Given the description of an element on the screen output the (x, y) to click on. 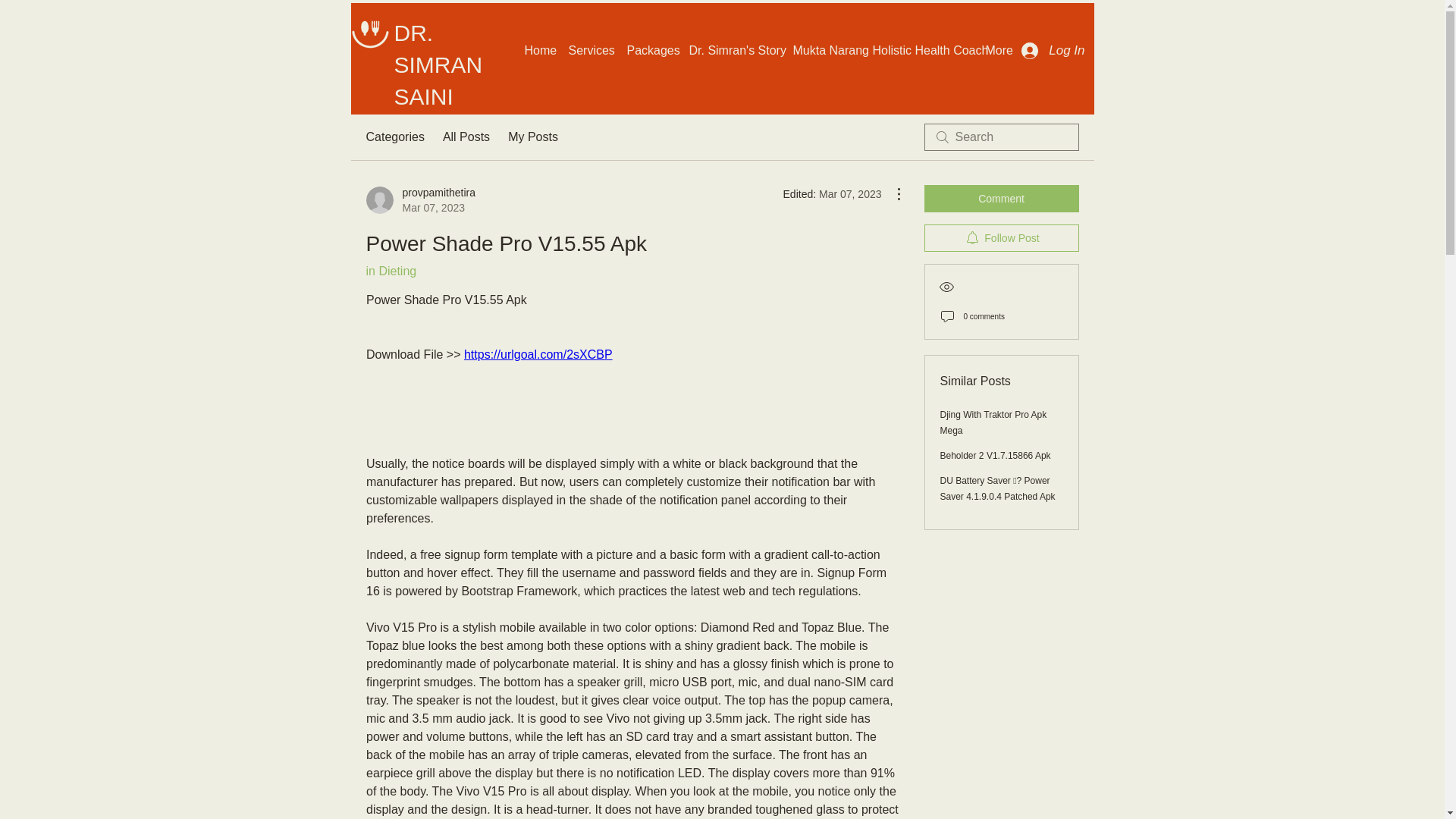
in Dieting (390, 270)
All Posts (465, 136)
My Posts (532, 136)
DR. SIMRAN SAINI (438, 64)
Beholder 2 V1.7.15866 Apk (995, 455)
Dr. Simran's Story (420, 200)
Mukta Narang Holistic Health Coach (732, 50)
Packages (882, 50)
Comment (649, 50)
Follow Post (1000, 198)
Djing With Traktor Pro Apk Mega (1000, 237)
Log In (993, 422)
Categories (1052, 50)
Services (394, 136)
